Given the description of an element on the screen output the (x, y) to click on. 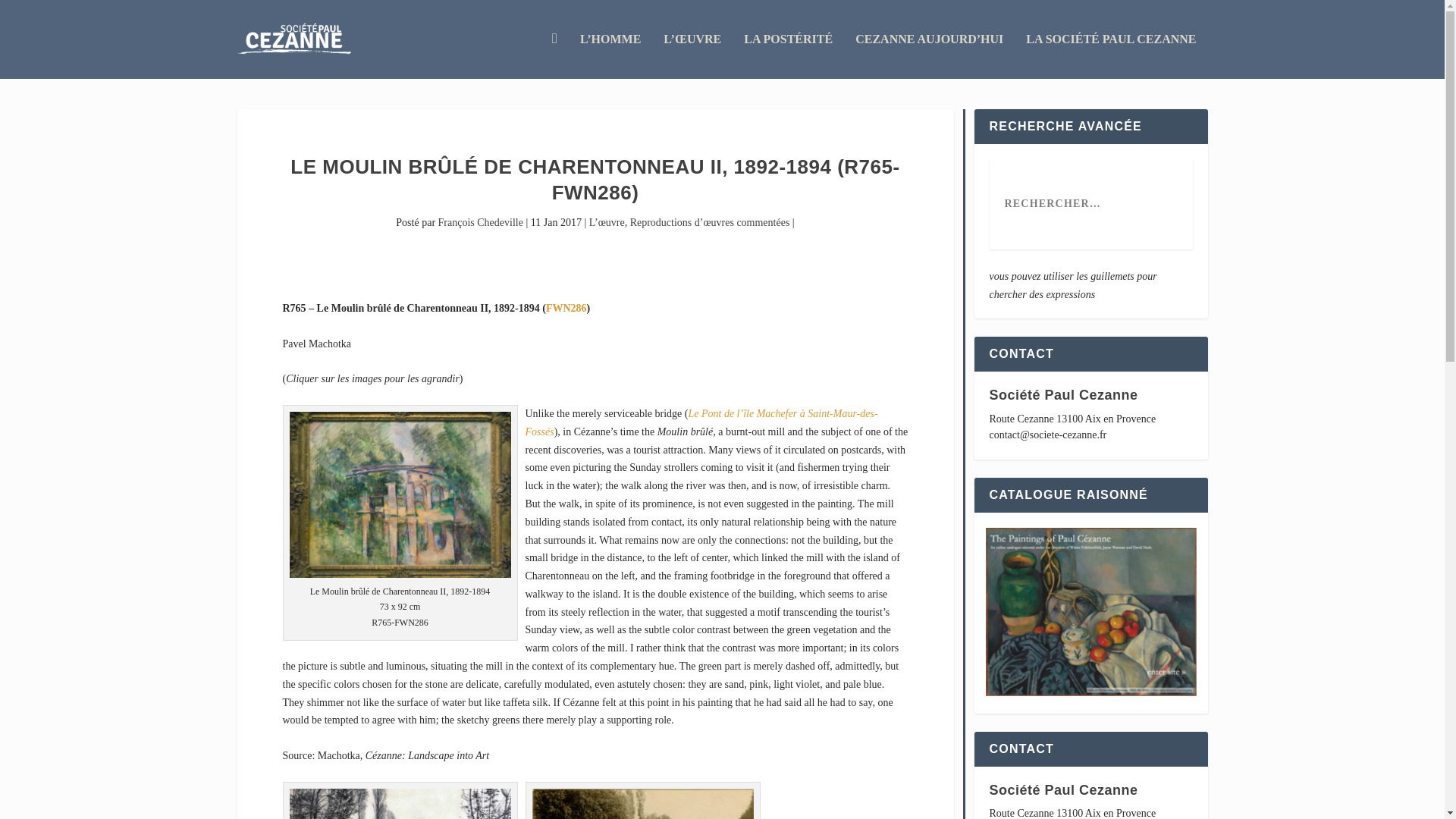
FWN286 (566, 307)
Rechercher (47, 13)
